Given the description of an element on the screen output the (x, y) to click on. 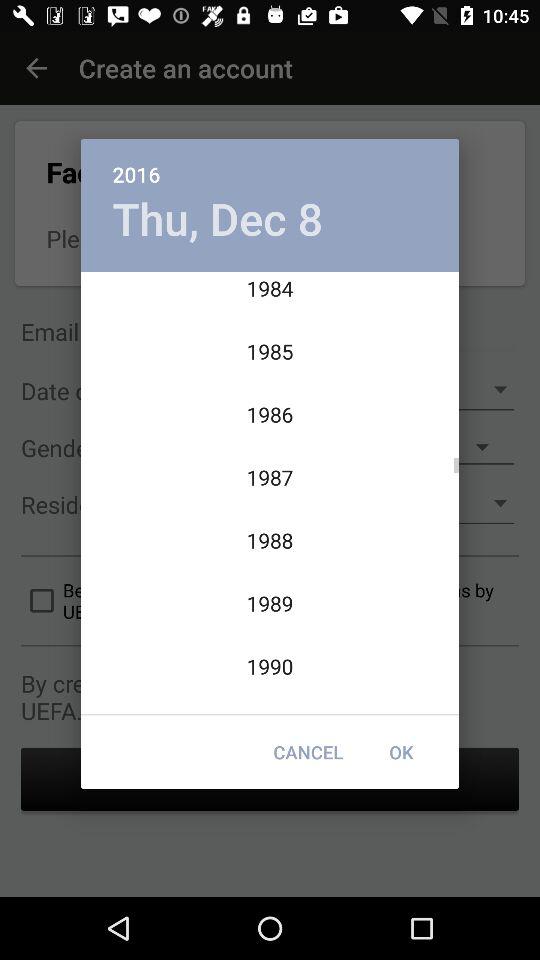
select item above the thu, dec 8 item (269, 163)
